Given the description of an element on the screen output the (x, y) to click on. 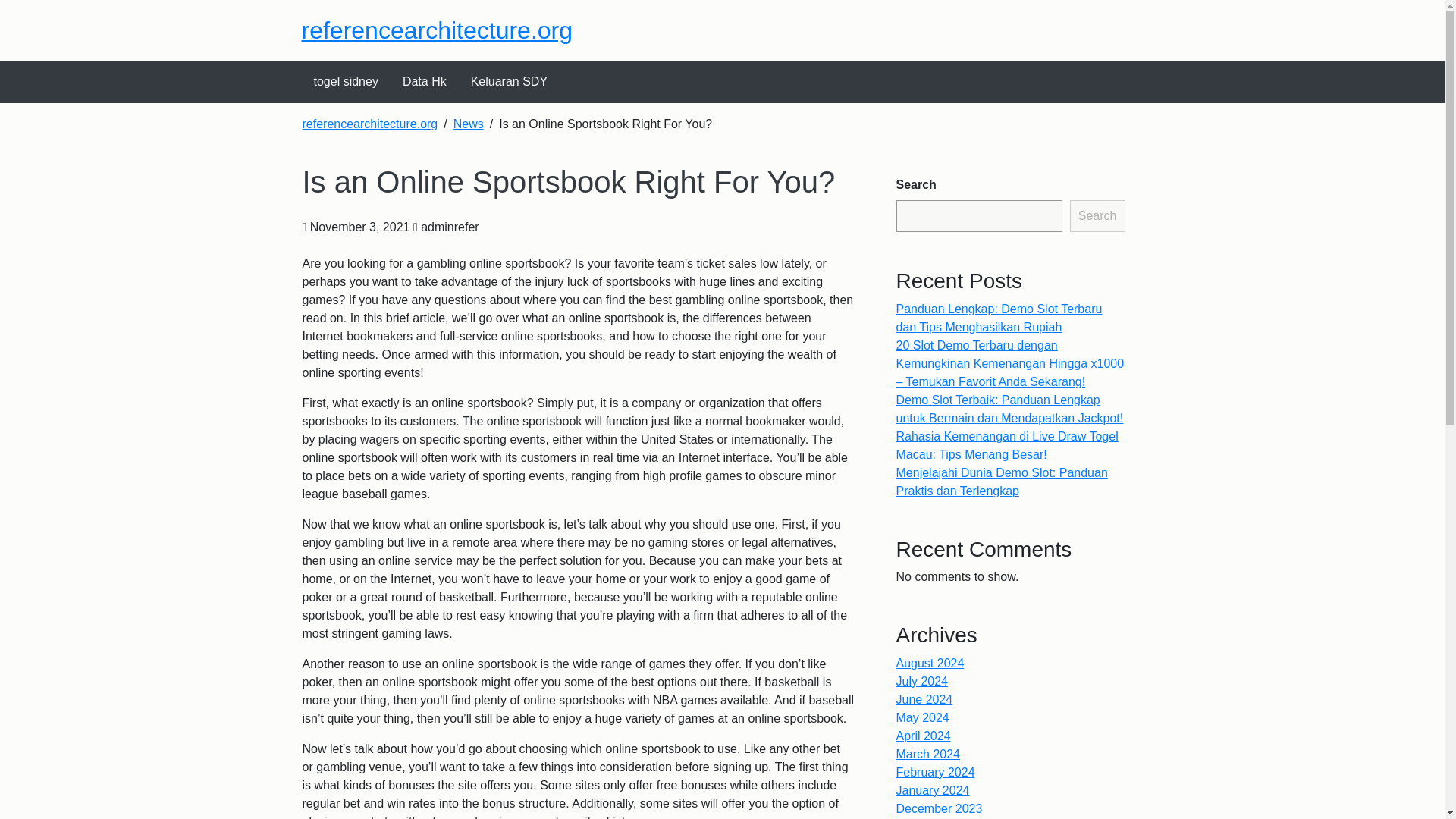
Search (1097, 215)
togel sidney (345, 81)
Data Hk (424, 81)
August 2024 (929, 662)
Menjelajahi Dunia Demo Slot: Panduan Praktis dan Terlengkap (1002, 481)
Data Hk (424, 81)
December 2023 (939, 808)
April 2024 (923, 735)
referencearchitecture.org (369, 123)
Keluaran SDY (508, 81)
February 2024 (935, 771)
June 2024 (924, 698)
